Given the description of an element on the screen output the (x, y) to click on. 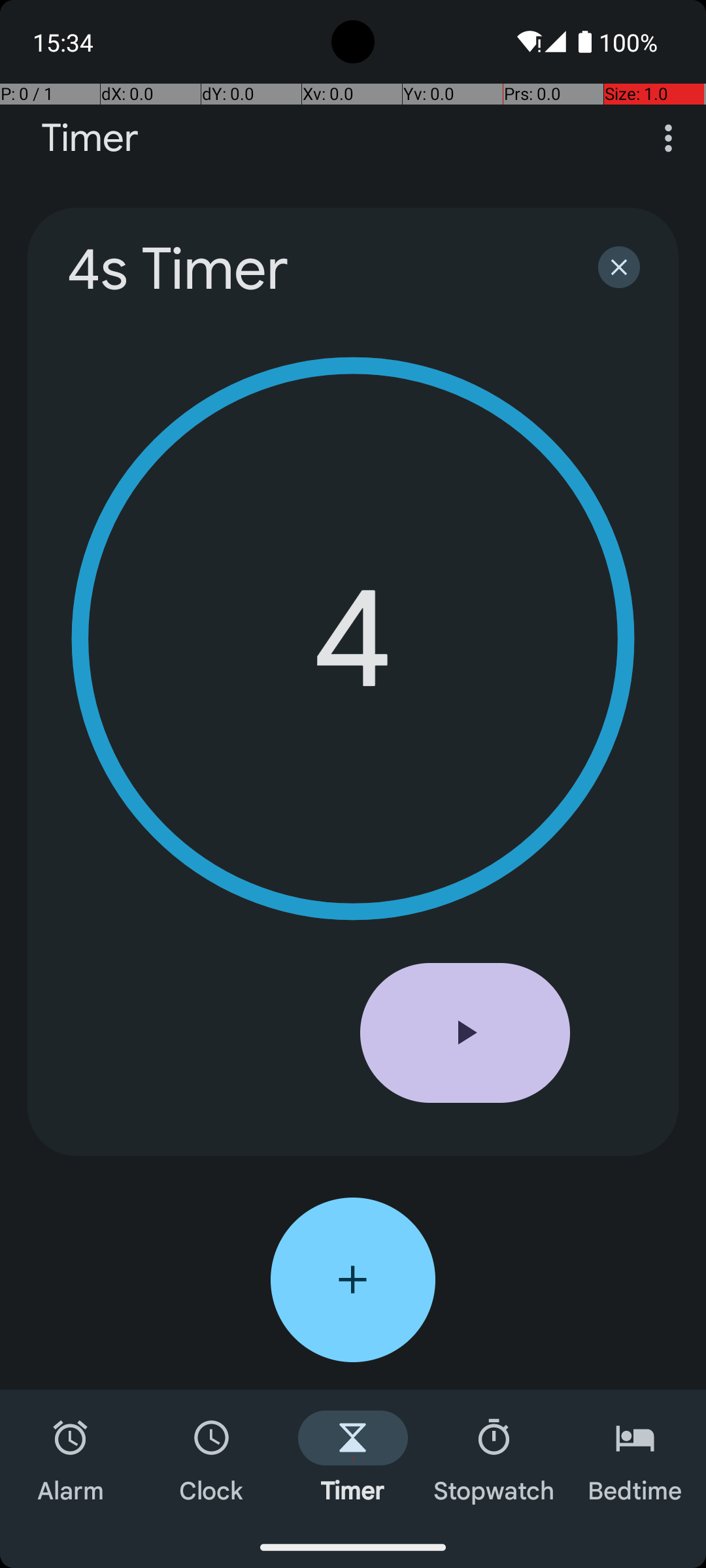
Add timer Element type: android.widget.Button (352, 1279)
4s Timer Element type: android.widget.TextView (315, 269)
